Given the description of an element on the screen output the (x, y) to click on. 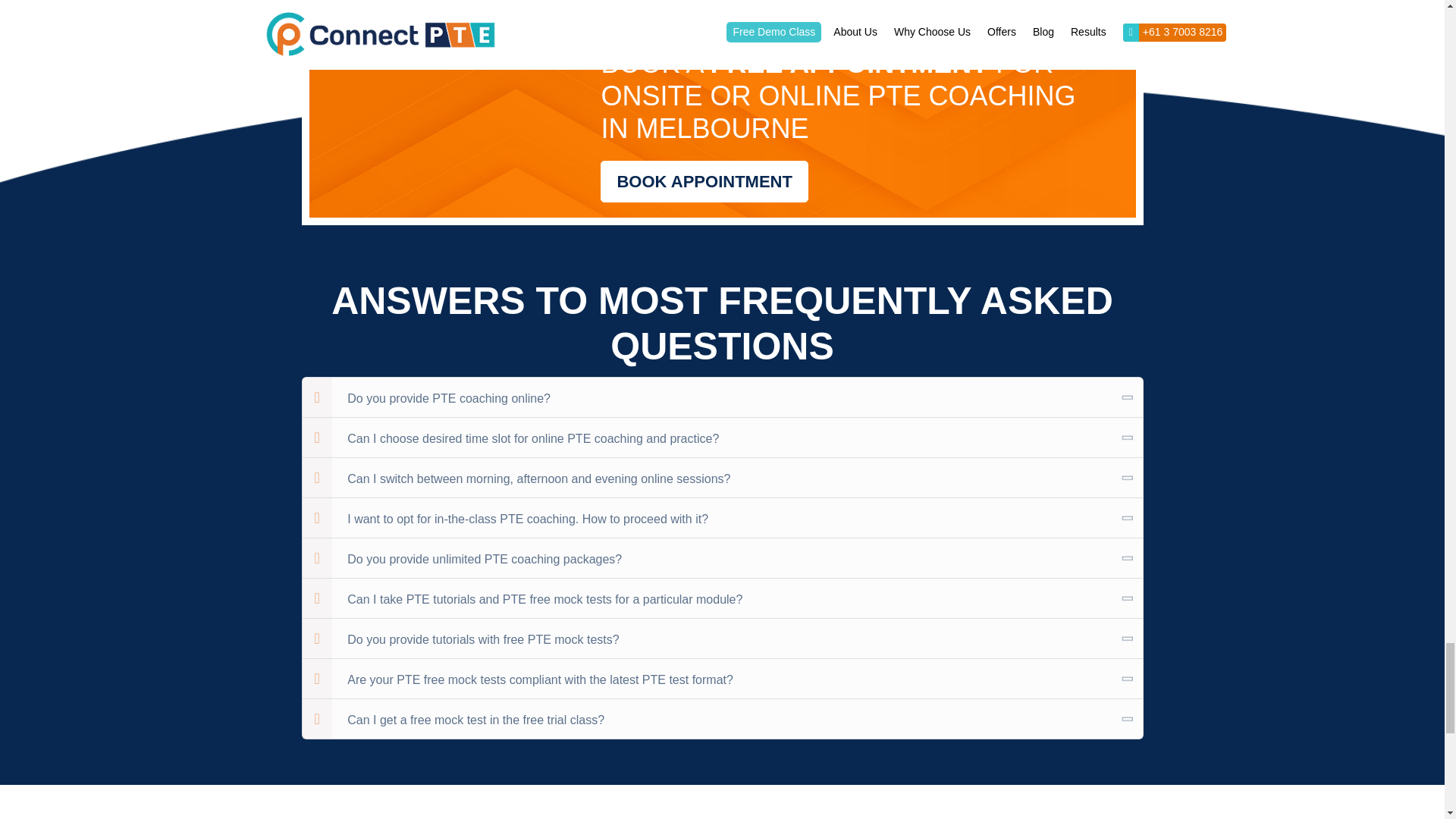
Can I get a free mock test in the free trial class? (721, 718)
Do you provide tutorials with free PTE mock tests? (721, 638)
BOOK APPOINTMENT (703, 181)
Do you provide unlimited PTE coaching packages? (721, 558)
Do you provide PTE coaching online? (721, 396)
